Given the description of an element on the screen output the (x, y) to click on. 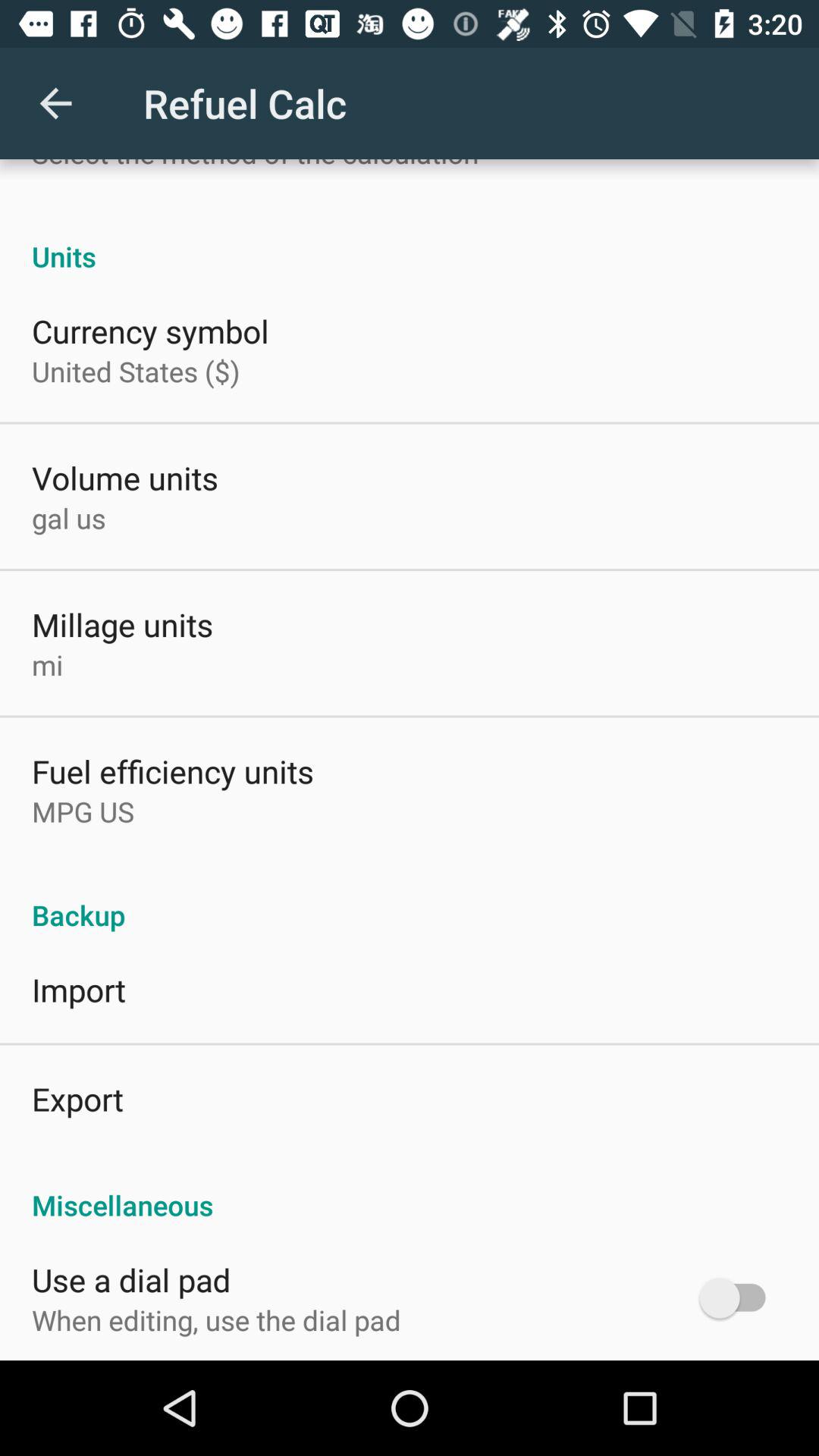
scroll to millage units app (122, 624)
